Given the description of an element on the screen output the (x, y) to click on. 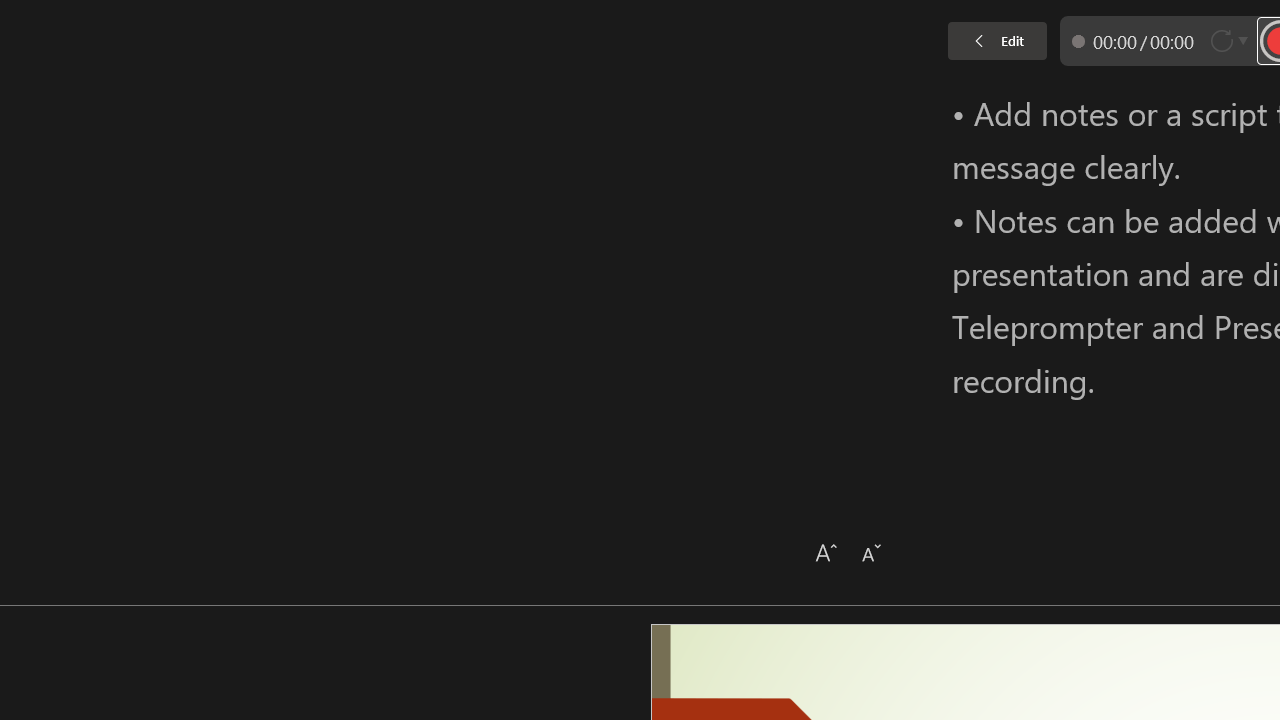
Learn More (646, 102)
Export to Video (585, 102)
